Given the description of an element on the screen output the (x, y) to click on. 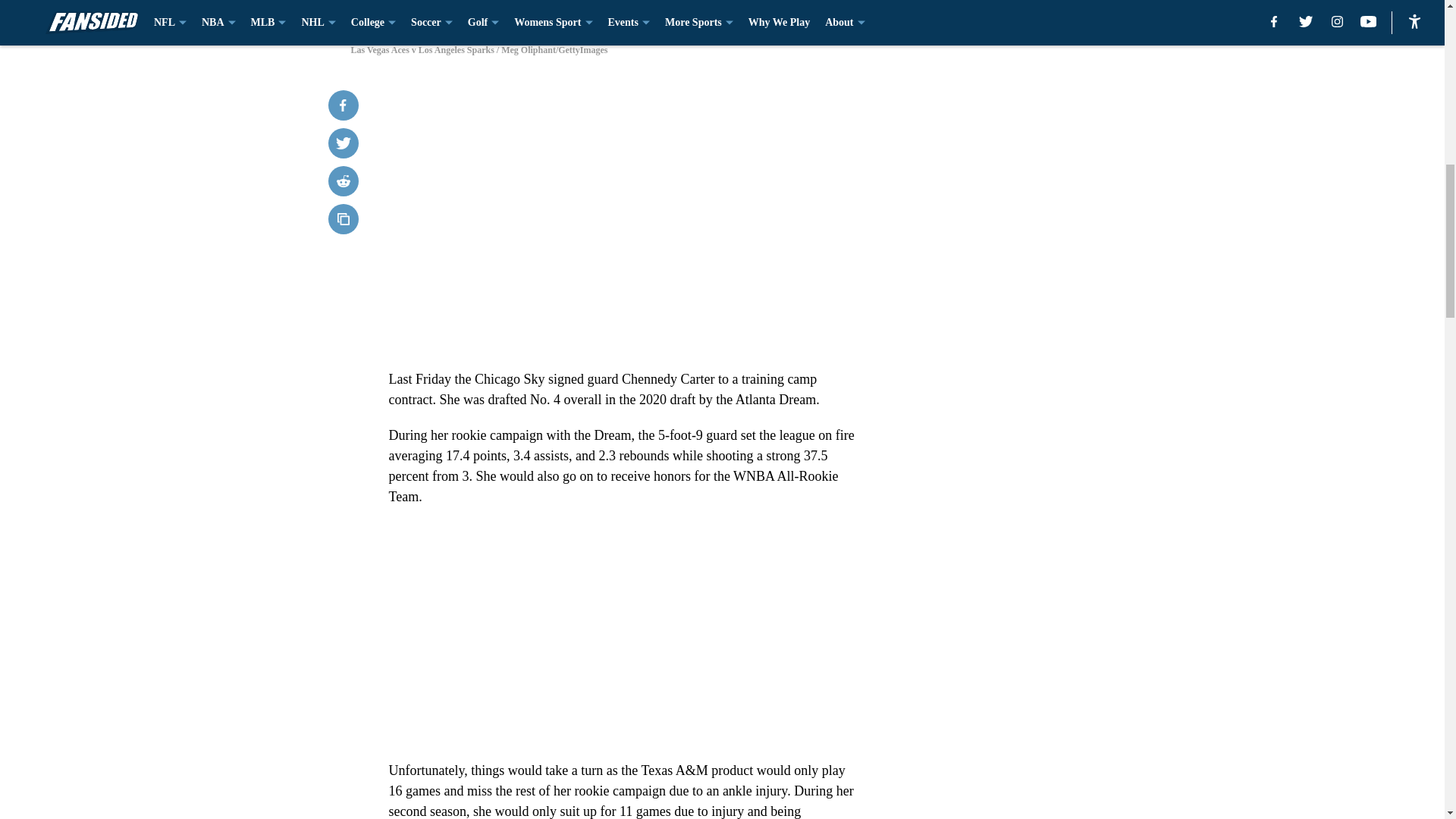
Las Vegas Aces v Los Angeles Sparks (721, 14)
3rd party ad content (1047, 403)
3rd party ad content (1047, 184)
